Given the description of an element on the screen output the (x, y) to click on. 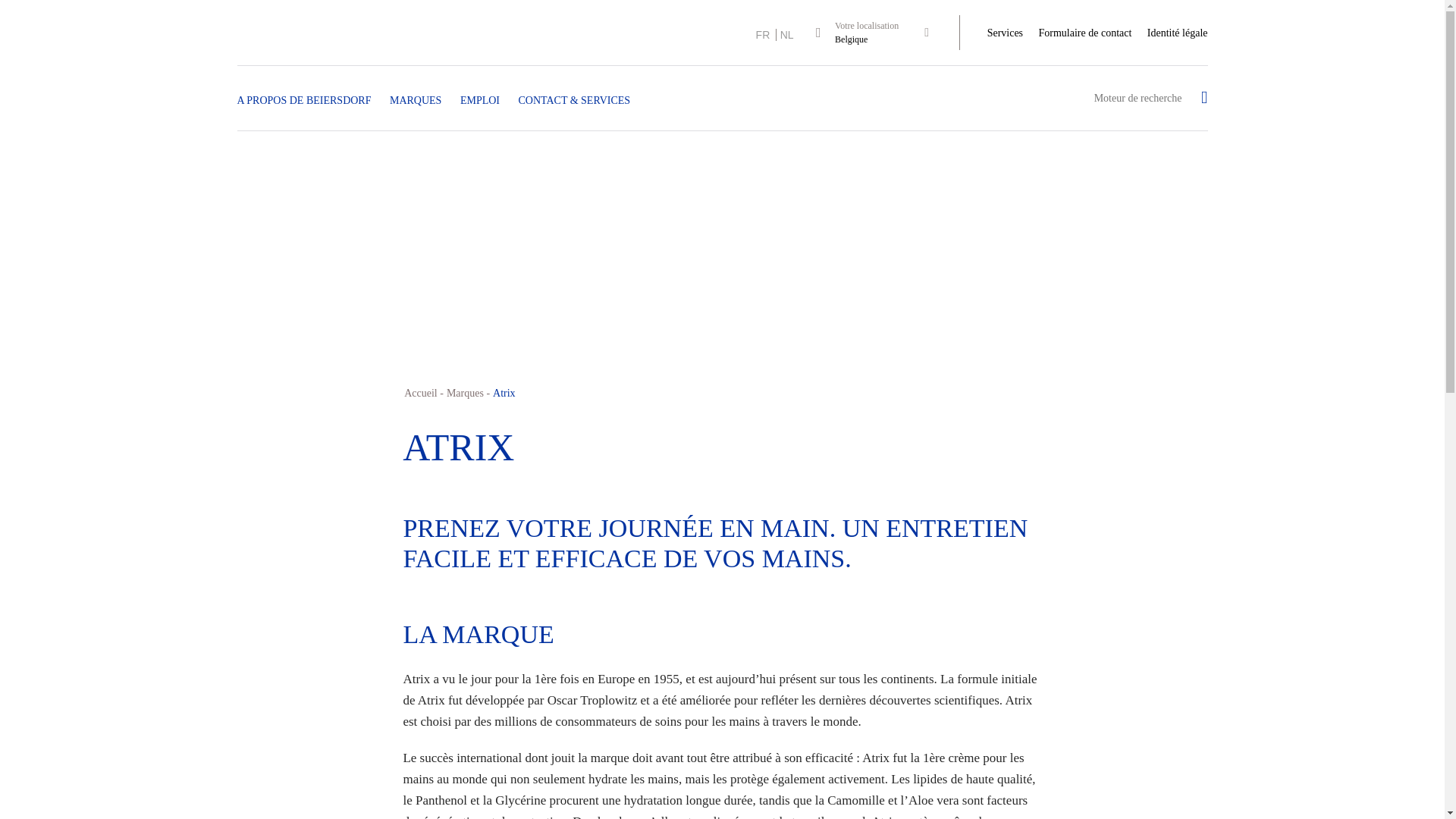
Formulaire de contact Element type: text (1085, 32)
Accueil Element type: text (420, 392)
Votre localisation
Belgique Element type: text (894, 32)
FR Element type: text (766, 34)
Atrix Element type: text (503, 392)
Services Element type: text (1004, 32)
NL Element type: text (786, 34)
Marques Element type: text (464, 392)
